Given the description of an element on the screen output the (x, y) to click on. 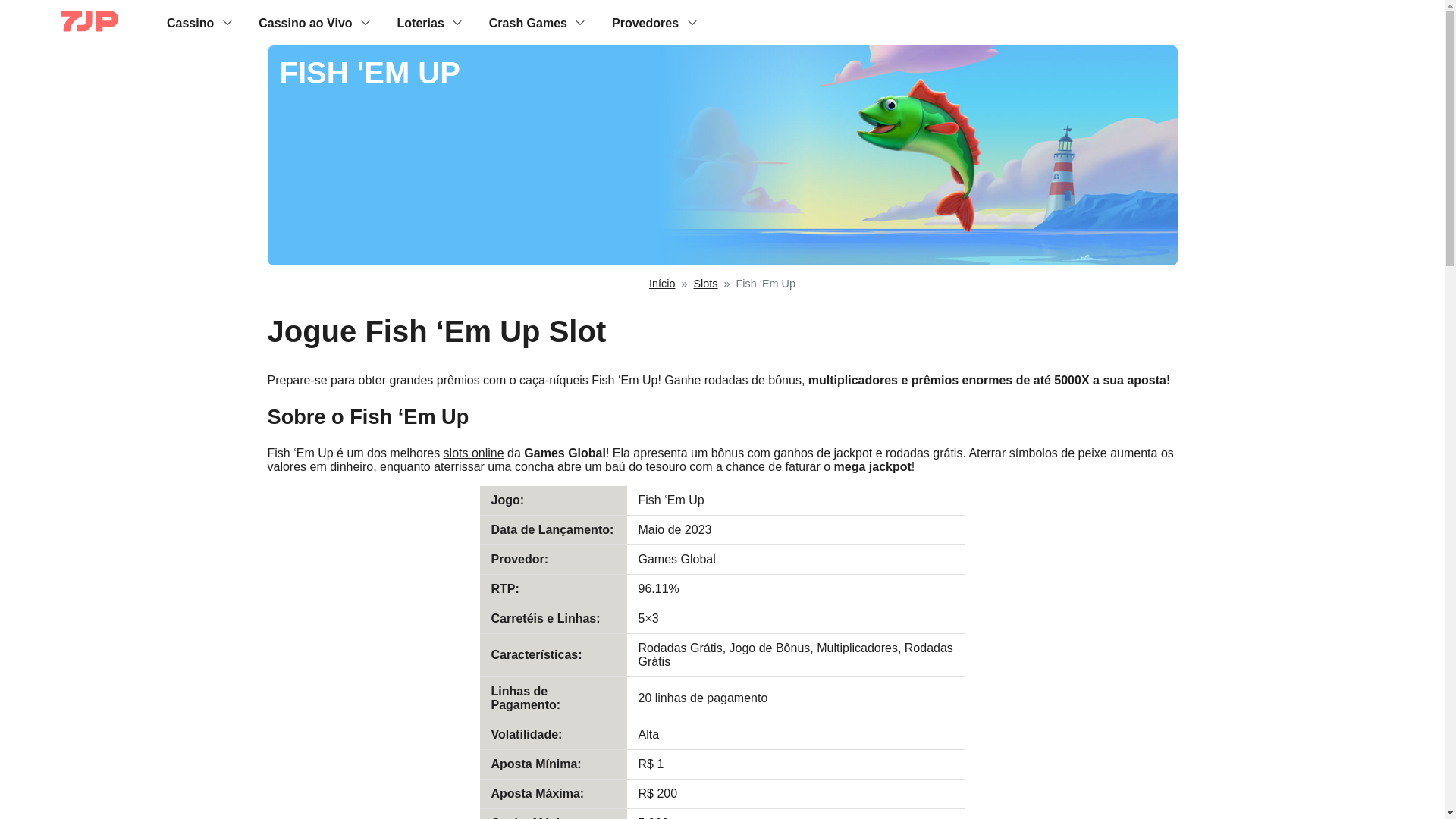
Cassino (190, 22)
Cassino ao Vivo (305, 22)
Loterias (420, 22)
Crash Games (528, 22)
